Given the description of an element on the screen output the (x, y) to click on. 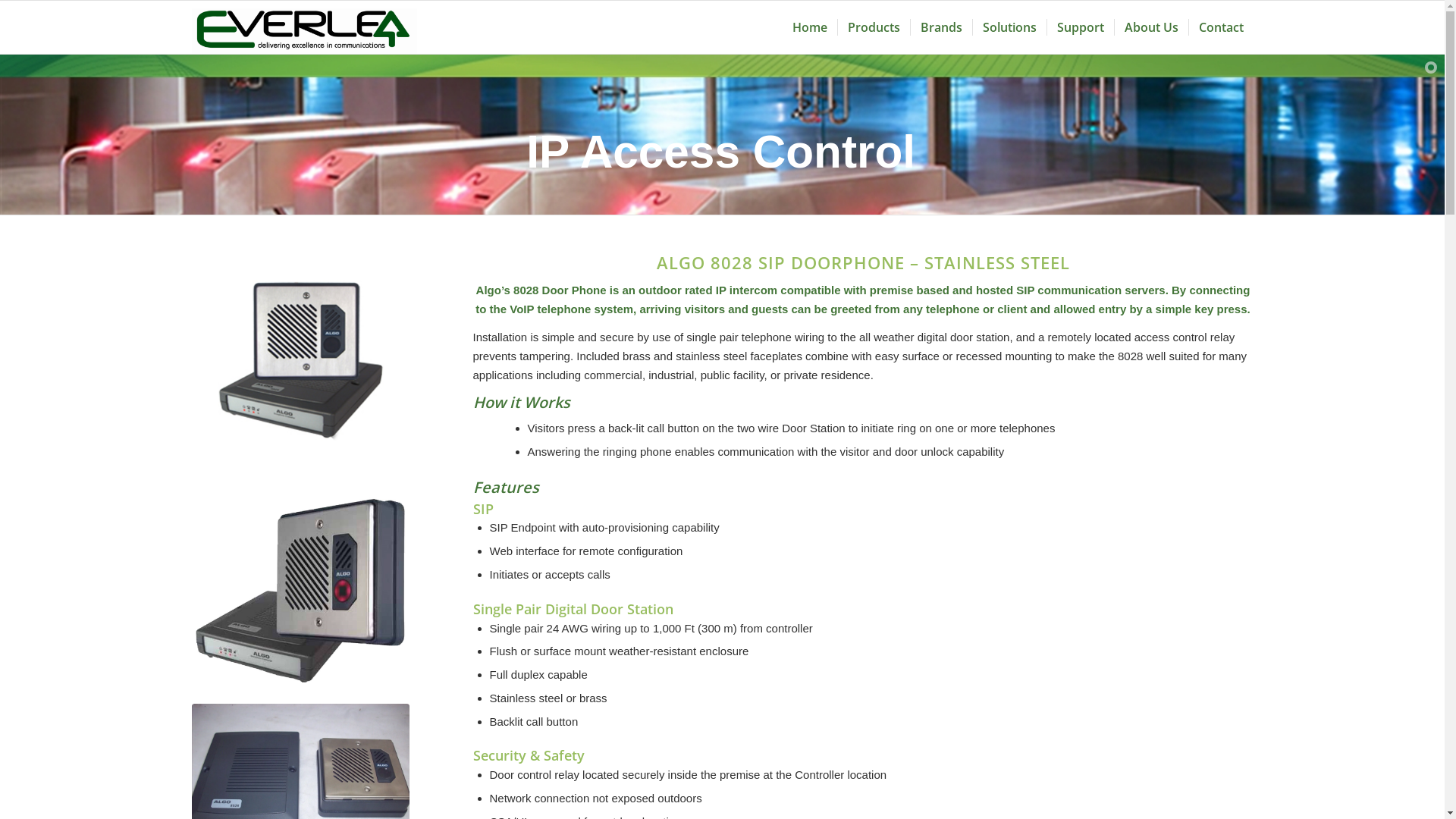
Solutions Element type: text (1009, 26)
8028-5 Element type: hover (299, 587)
Support Element type: text (1079, 26)
8828-2 Element type: hover (299, 361)
About Us Element type: text (1150, 26)
Contact Element type: text (1219, 26)
Brands Element type: text (941, 26)
Products Element type: text (873, 26)
Home Element type: text (809, 26)
